Given the description of an element on the screen output the (x, y) to click on. 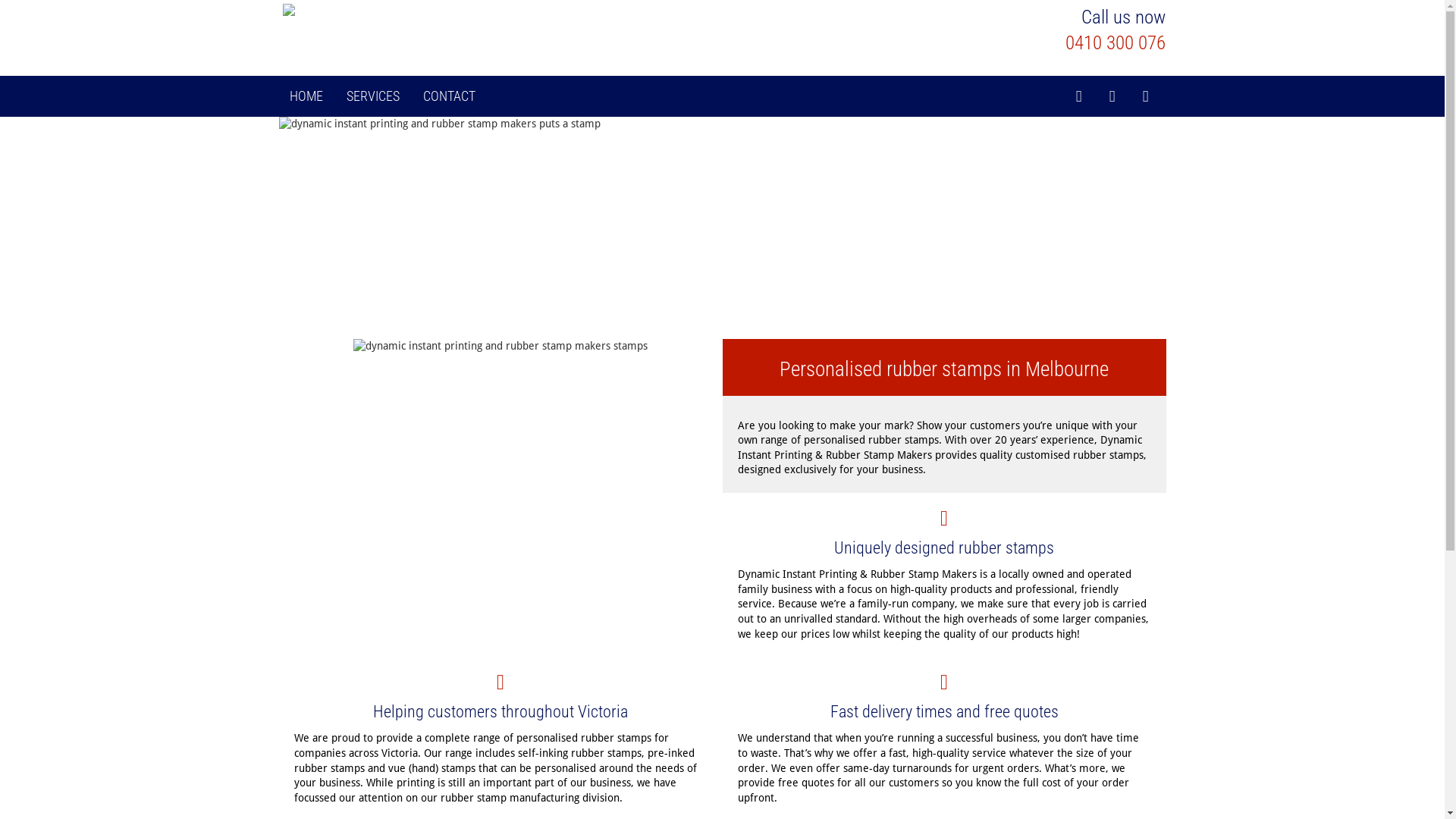
CONTACT Element type: text (449, 96)
0410 300 076 Element type: text (1115, 42)
dynamic instant printing and rubber stamp makers stamps Element type: hover (500, 490)
SERVICES Element type: text (371, 96)
HOME Element type: text (306, 96)
dynamic instant printing and rubber stamp makers logo Element type: hover (426, 10)
